Given the description of an element on the screen output the (x, y) to click on. 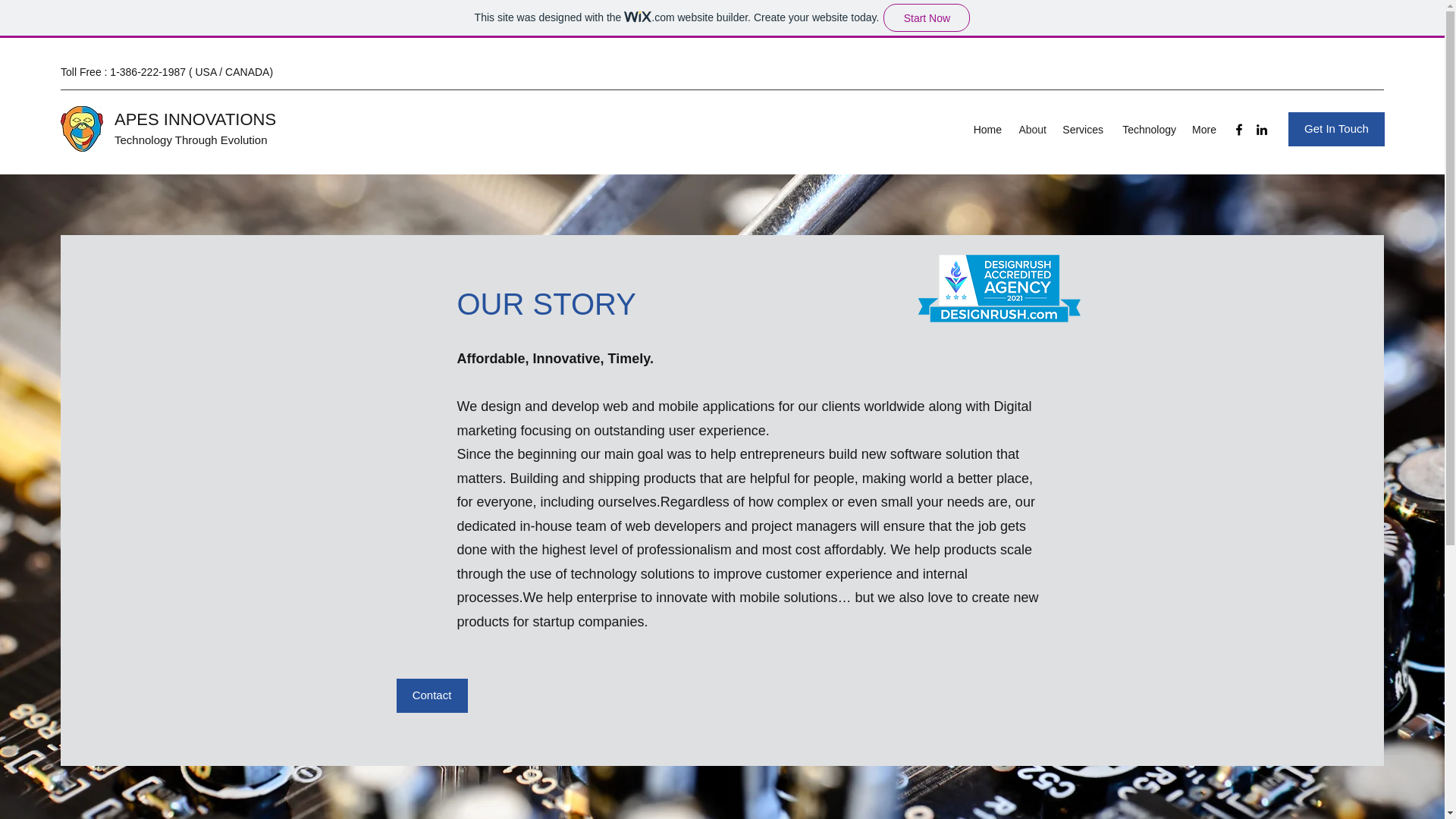
Technology (1146, 128)
52.00-Design-Rush-Accredited-Badge2.png (998, 287)
About (1031, 128)
Contact (431, 695)
Get In Touch (1336, 129)
Services (1082, 128)
Home (986, 128)
